Given the description of an element on the screen output the (x, y) to click on. 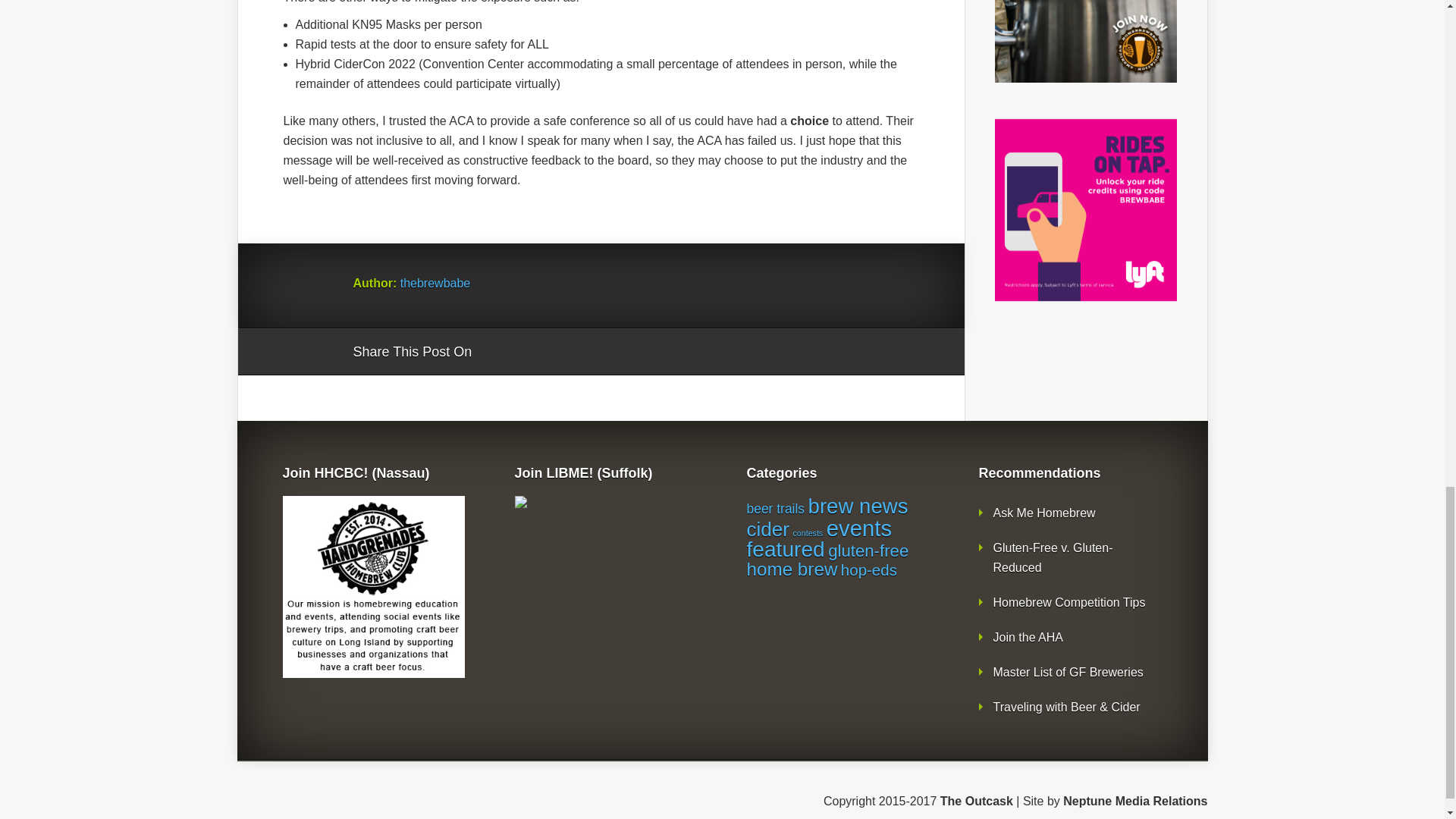
featured (784, 549)
home brew (791, 568)
cider (767, 528)
Master List of GF Breweries (1067, 671)
events (859, 527)
thebrewbabe (435, 282)
contests (808, 532)
Tips on submitting your homebrew to competitions.  (1068, 602)
